Given the description of an element on the screen output the (x, y) to click on. 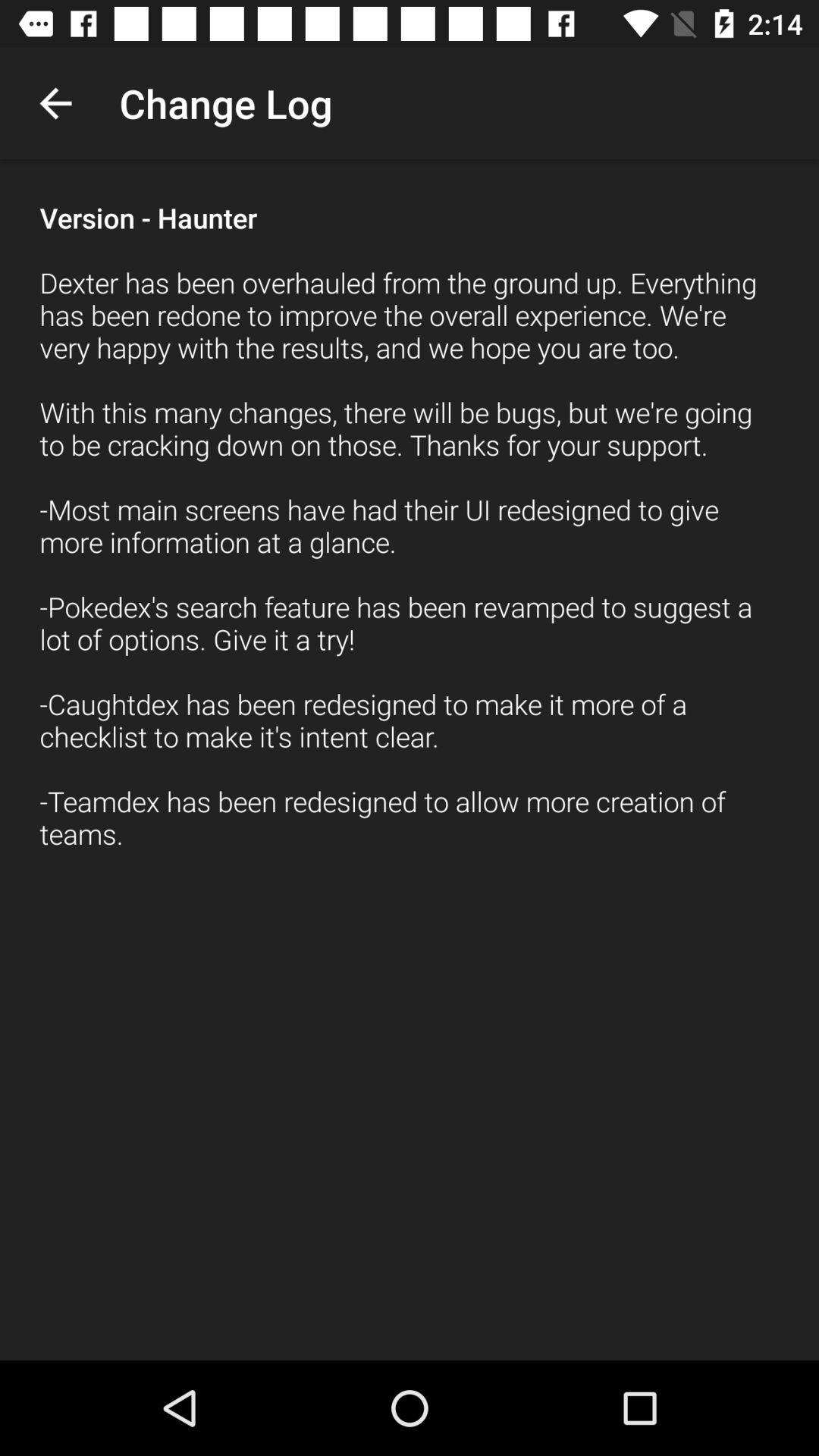
select the app next to change log icon (55, 103)
